Given the description of an element on the screen output the (x, y) to click on. 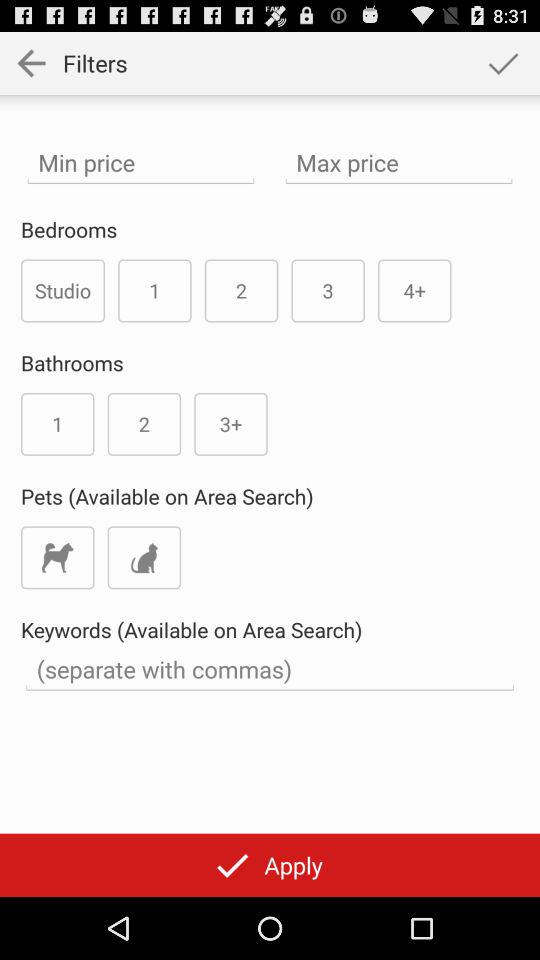
launch the item next to the 1 item (63, 290)
